Given the description of an element on the screen output the (x, y) to click on. 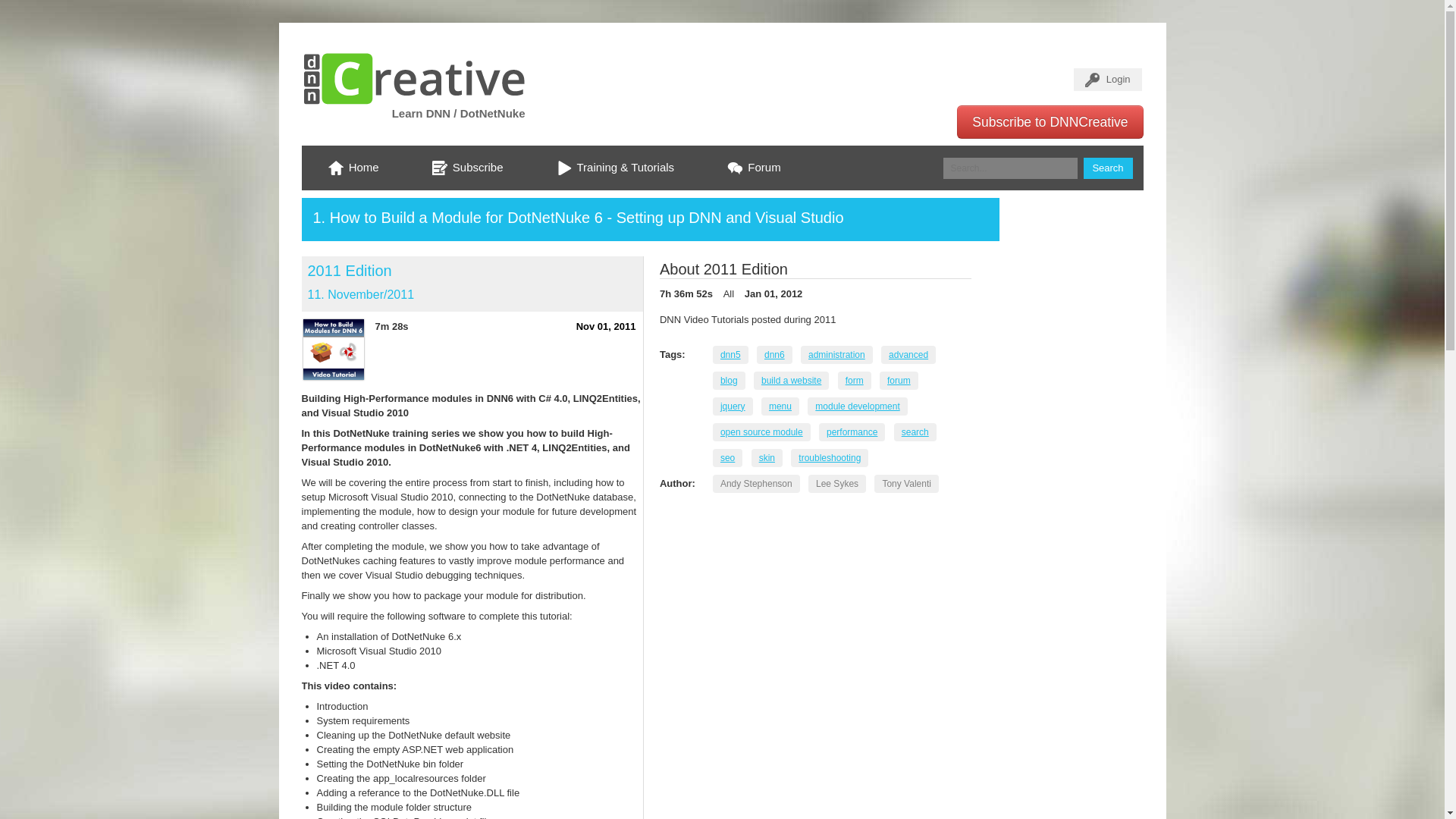
Forum (754, 167)
2011 Edition (349, 270)
Search (1107, 168)
Login (1107, 78)
Login (1107, 78)
DotNetNuke Training Tutorials DNN Videos (615, 167)
Subscribe (467, 167)
dnn5 (730, 354)
Home (353, 167)
